Given the description of an element on the screen output the (x, y) to click on. 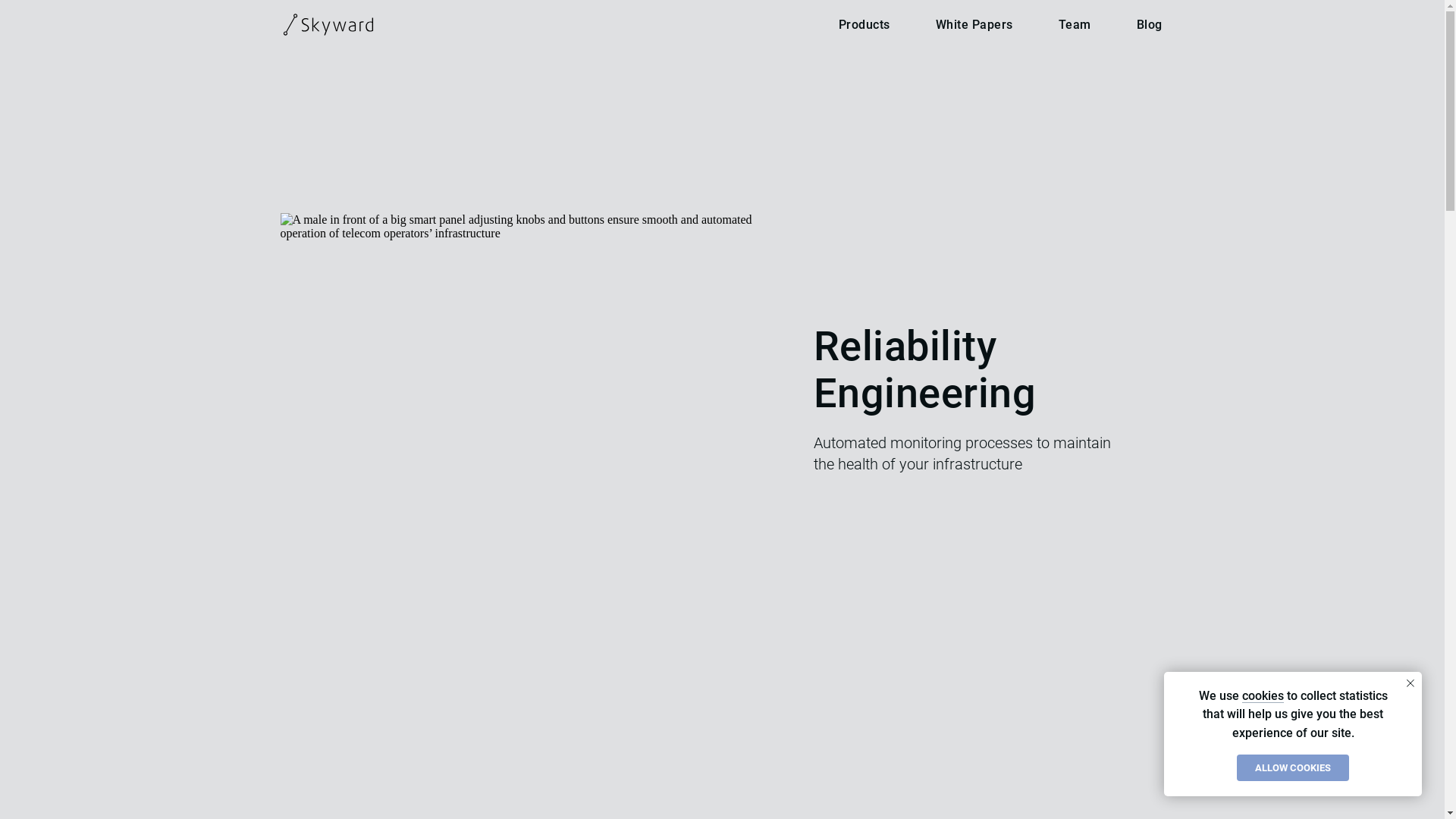
White Papers Element type: text (974, 24)
Products Element type: text (864, 24)
Blog Element type: text (1148, 24)
ALLOW COOKIES Element type: text (1292, 767)
Team Element type: text (1074, 24)
cookies Element type: text (1262, 695)
